Given the description of an element on the screen output the (x, y) to click on. 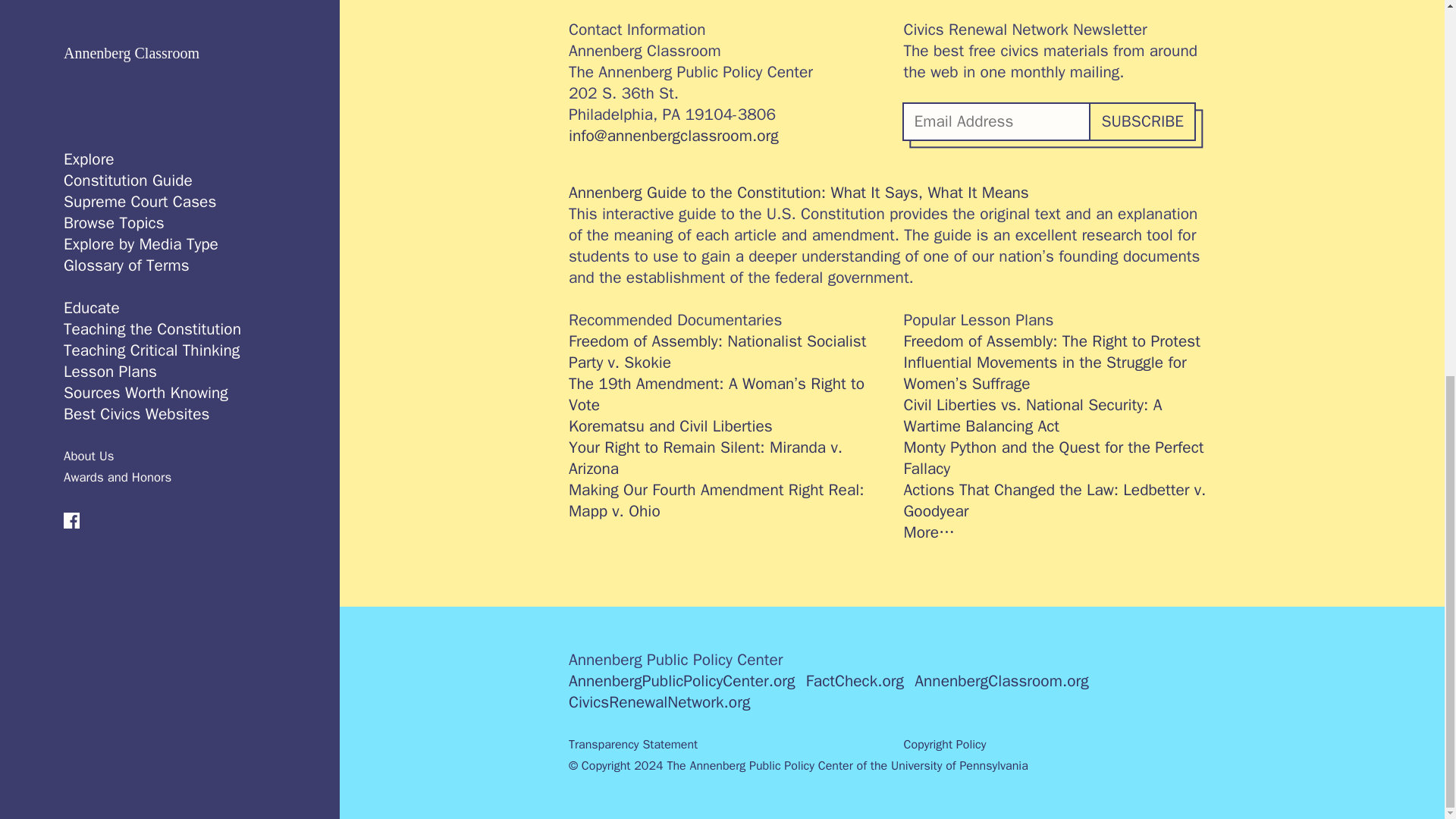
Your Right to Remain Silent: Miranda v. Arizona (724, 457)
Freedom of Assembly: The Right to Protest (1059, 341)
AnnenbergClassroom.org (1000, 680)
FactCheck.org (855, 680)
Korematsu and Civil Liberties (724, 425)
The 19th Amendment: A Woman's Right to Vote (724, 394)
Korematsu and Civil Liberties (724, 425)
AnnenbergPublicPolicyCenter.org (681, 680)
Actions That Changed the Law: Ledbetter v. Goodyear (1059, 500)
